Given the description of an element on the screen output the (x, y) to click on. 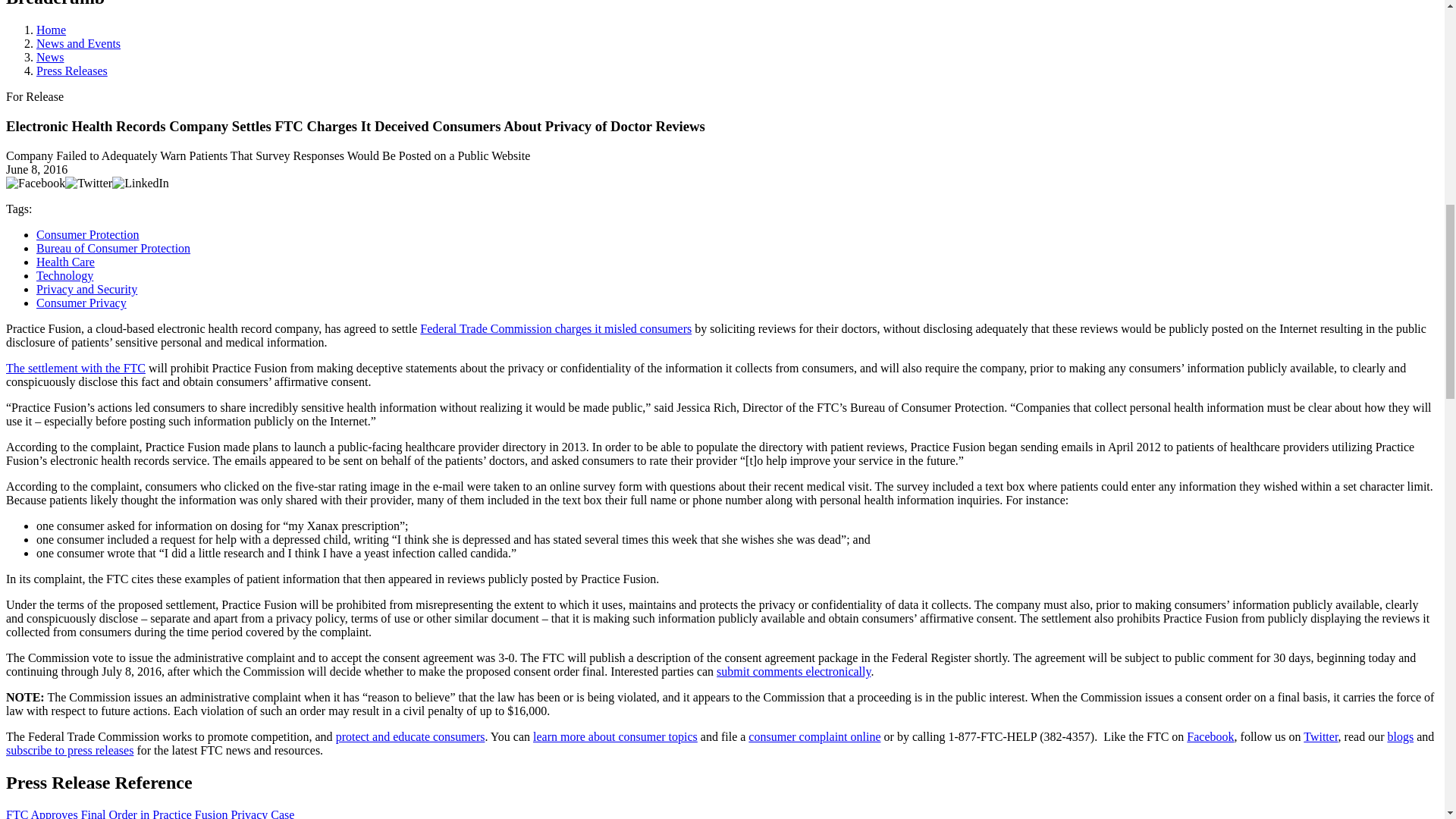
News and Events (78, 42)
News (50, 56)
Press Releases (71, 70)
Home (50, 29)
